Given the description of an element on the screen output the (x, y) to click on. 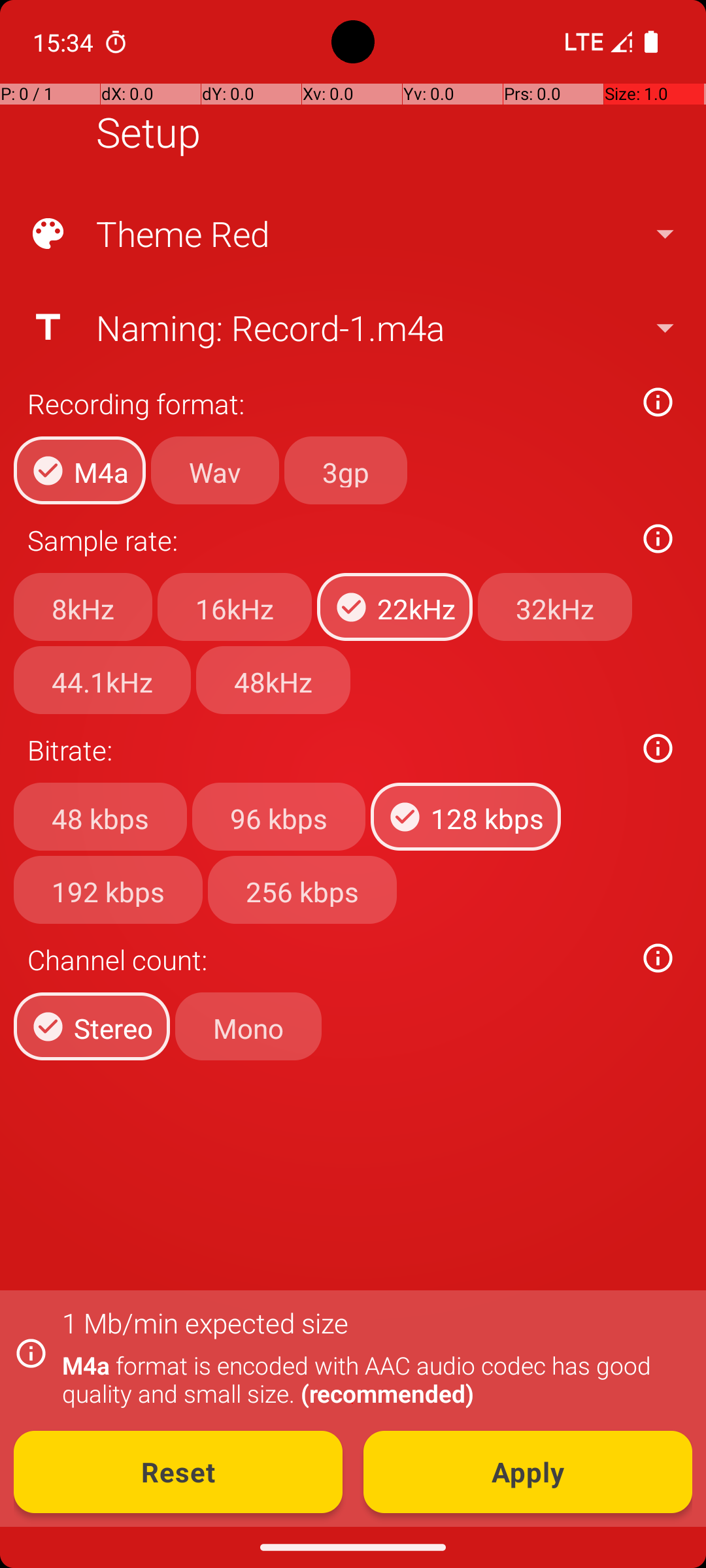
Theme Red Element type: android.widget.TextView (352, 233)
Clock notification:  Element type: android.widget.ImageView (115, 41)
Phone one bar. Element type: android.widget.FrameLayout (595, 41)
